Given the description of an element on the screen output the (x, y) to click on. 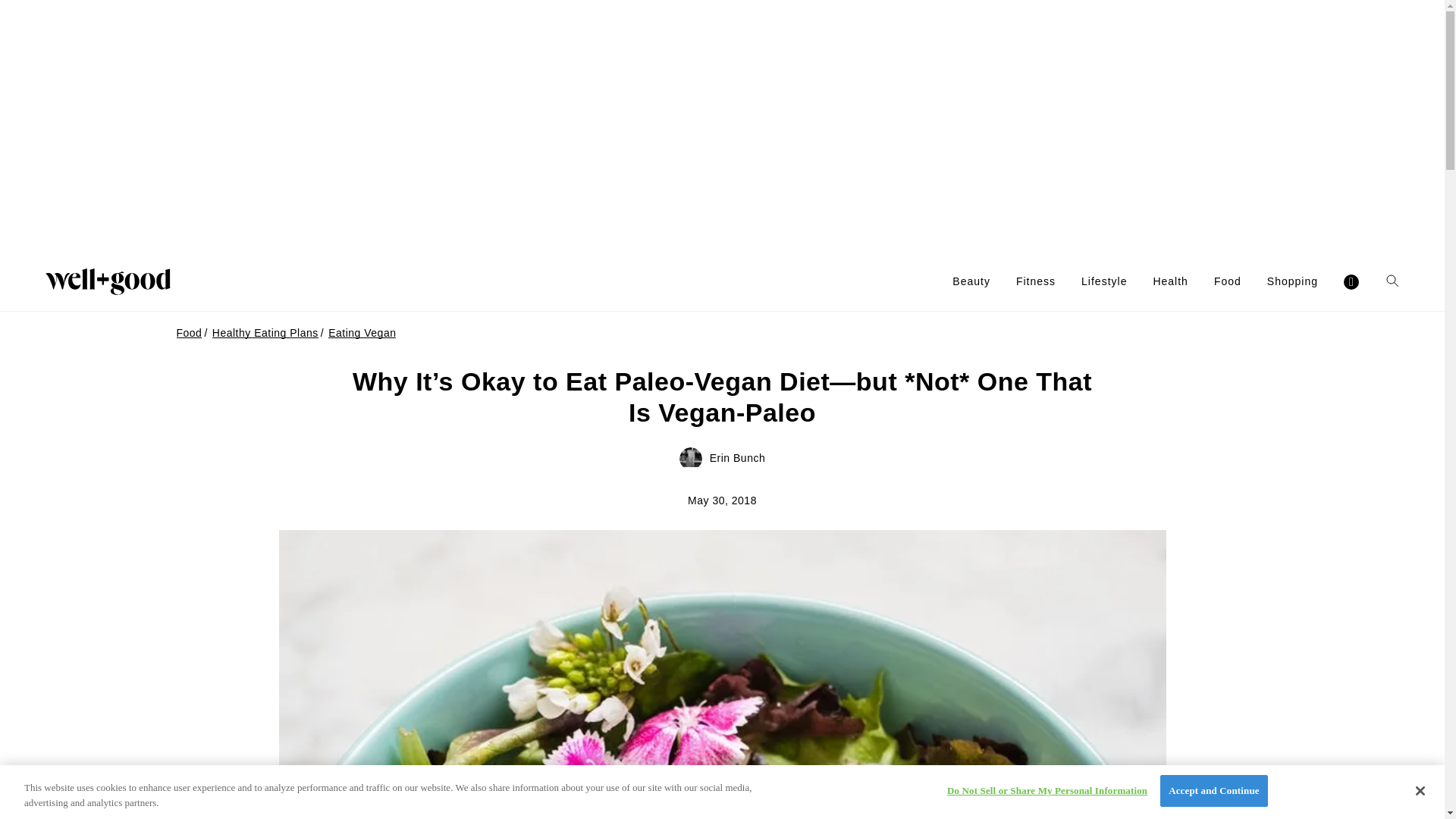
Food (1227, 281)
Health (1170, 281)
Shopping (1291, 281)
Beauty (971, 281)
Lifestyle (1103, 281)
Fitness (1035, 281)
